Given the description of an element on the screen output the (x, y) to click on. 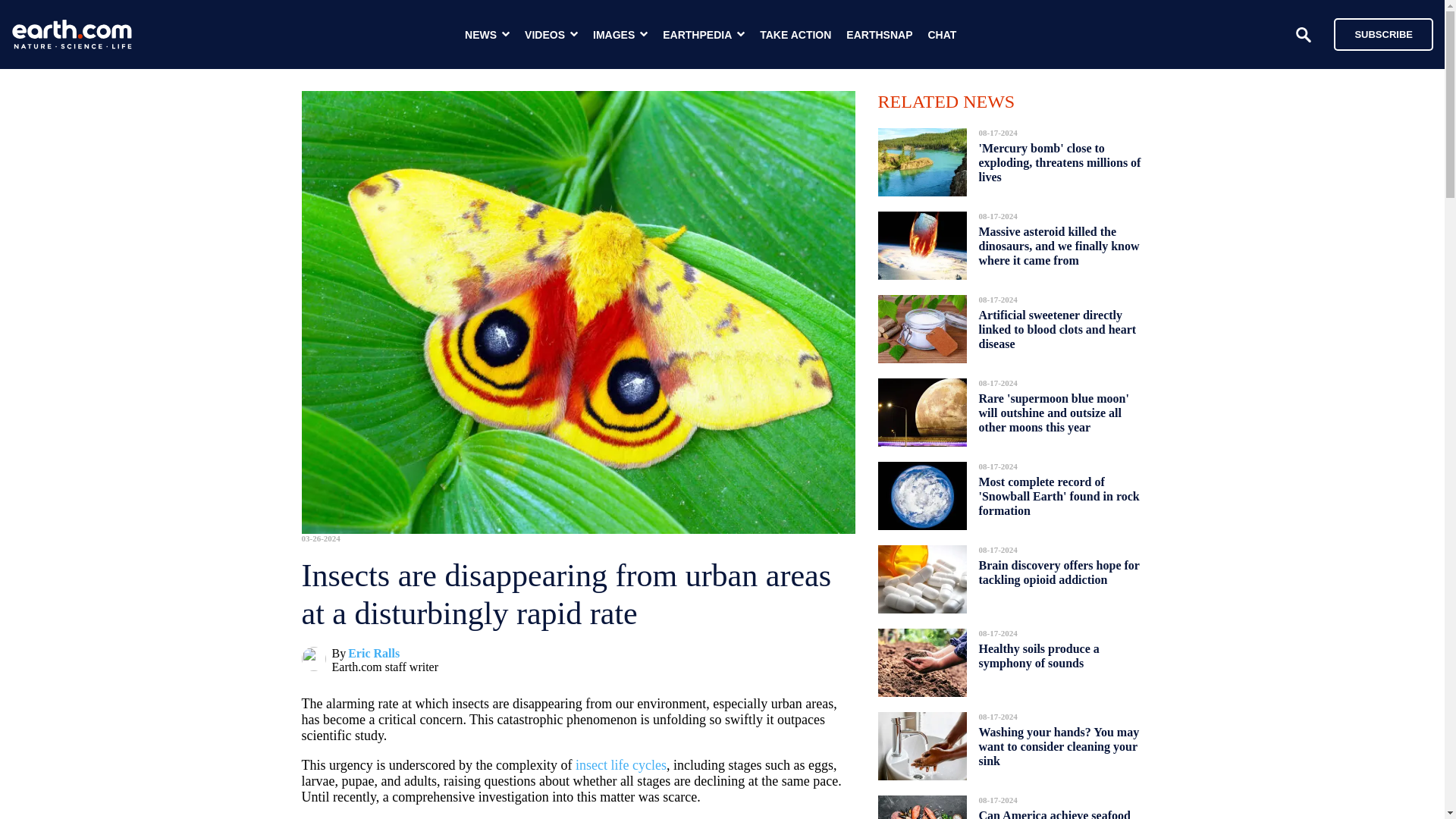
Eric Ralls (372, 653)
EARTHSNAP (878, 34)
insect life cycles (620, 765)
Brain discovery offers hope for tackling opioid addiction (1058, 572)
CHAT (941, 34)
Healthy soils produce a symphony of sounds (1038, 655)
SUBSCRIBE (1375, 33)
TAKE ACTION (795, 34)
